Given the description of an element on the screen output the (x, y) to click on. 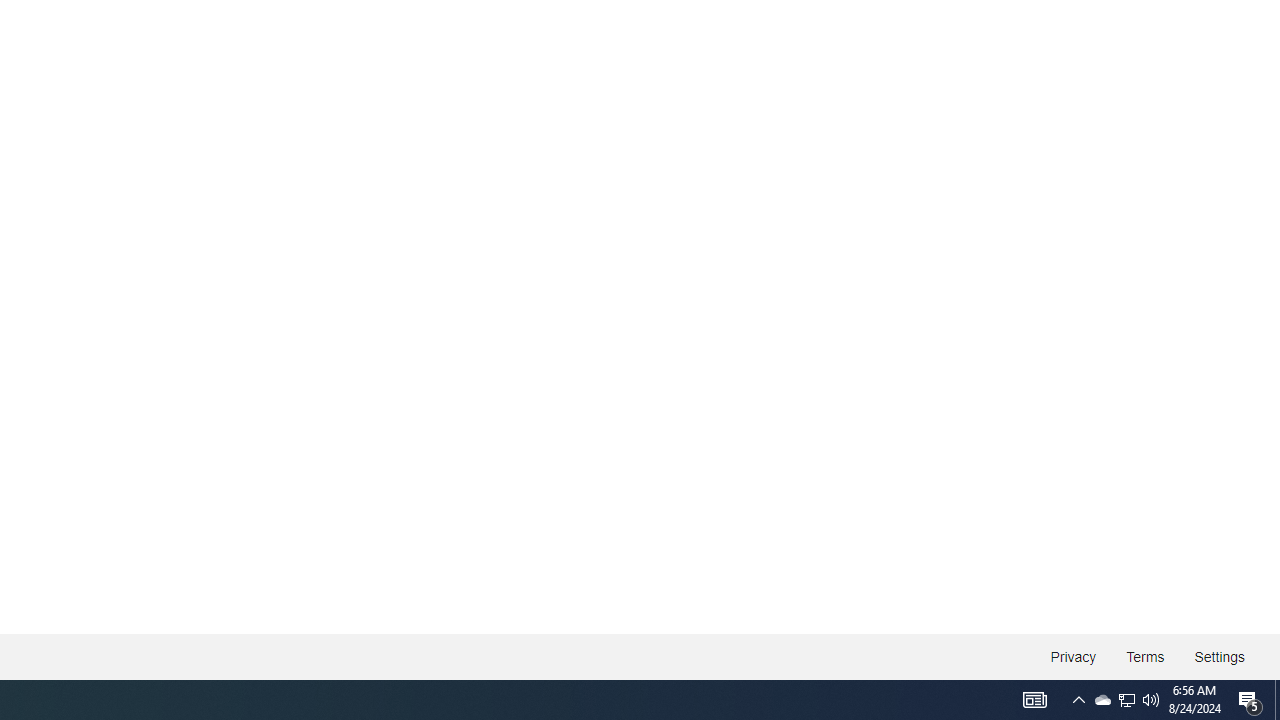
Terms (1145, 656)
Privacy (1073, 656)
Settings (1218, 656)
